Given the description of an element on the screen output the (x, y) to click on. 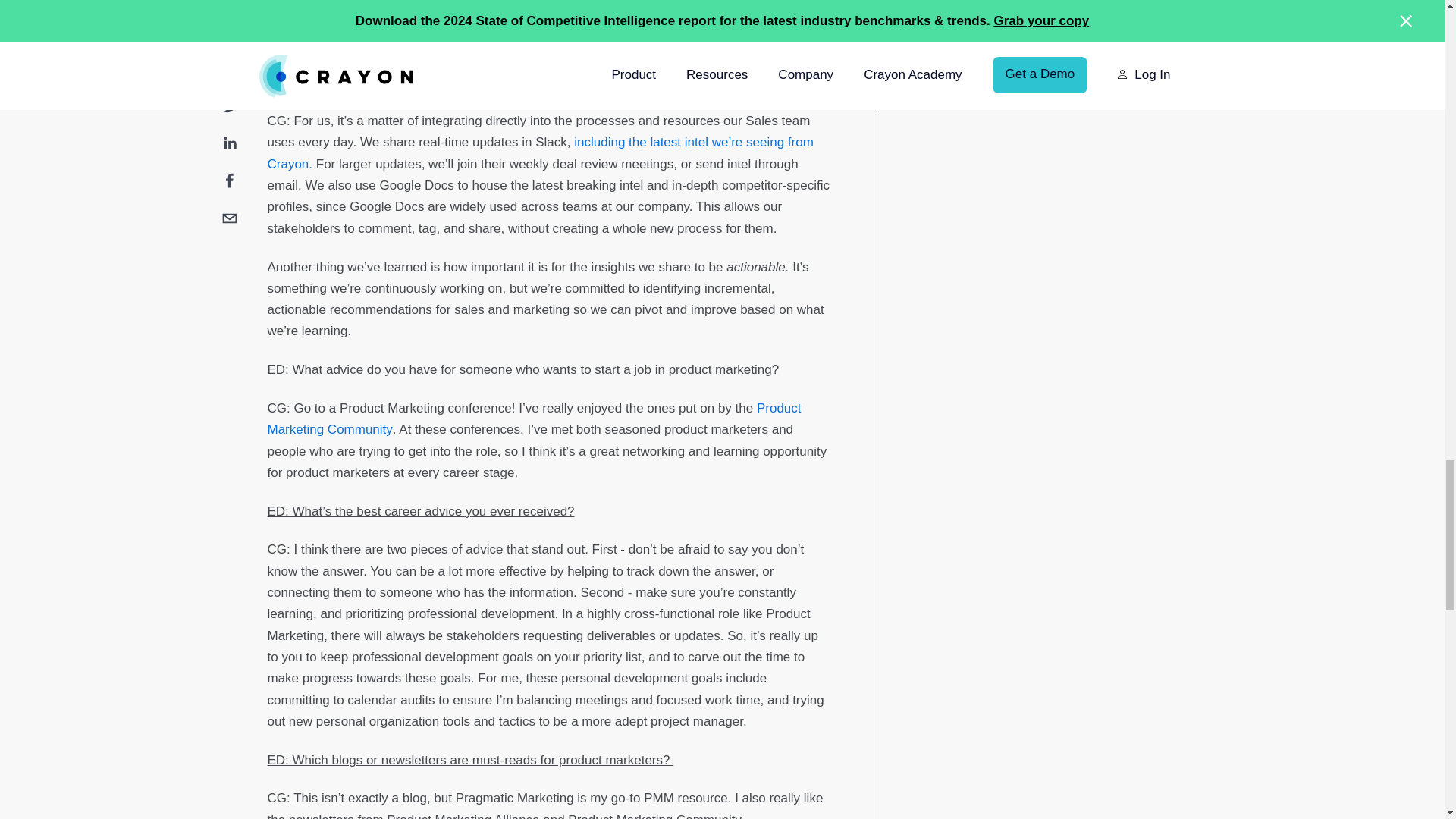
Product Marketing Community (533, 418)
